Given the description of an element on the screen output the (x, y) to click on. 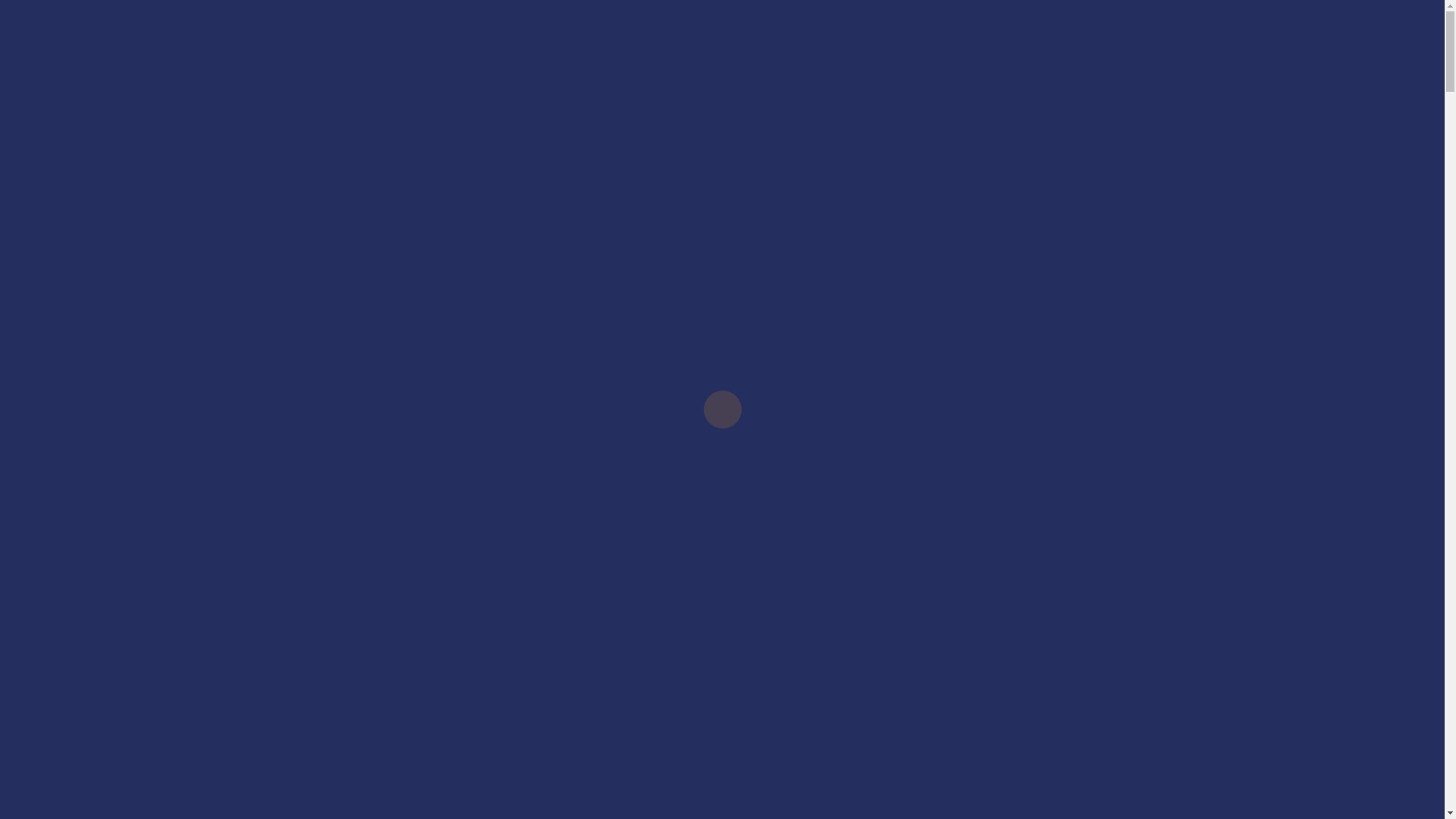
Home Element type: text (949, 317)
Close Element type: text (45, 218)
Offer Element type: text (947, 383)
Experience Element type: text (933, 449)
Toggle navigation Element type: text (323, 255)
Contact Element type: text (940, 515)
